Given the description of an element on the screen output the (x, y) to click on. 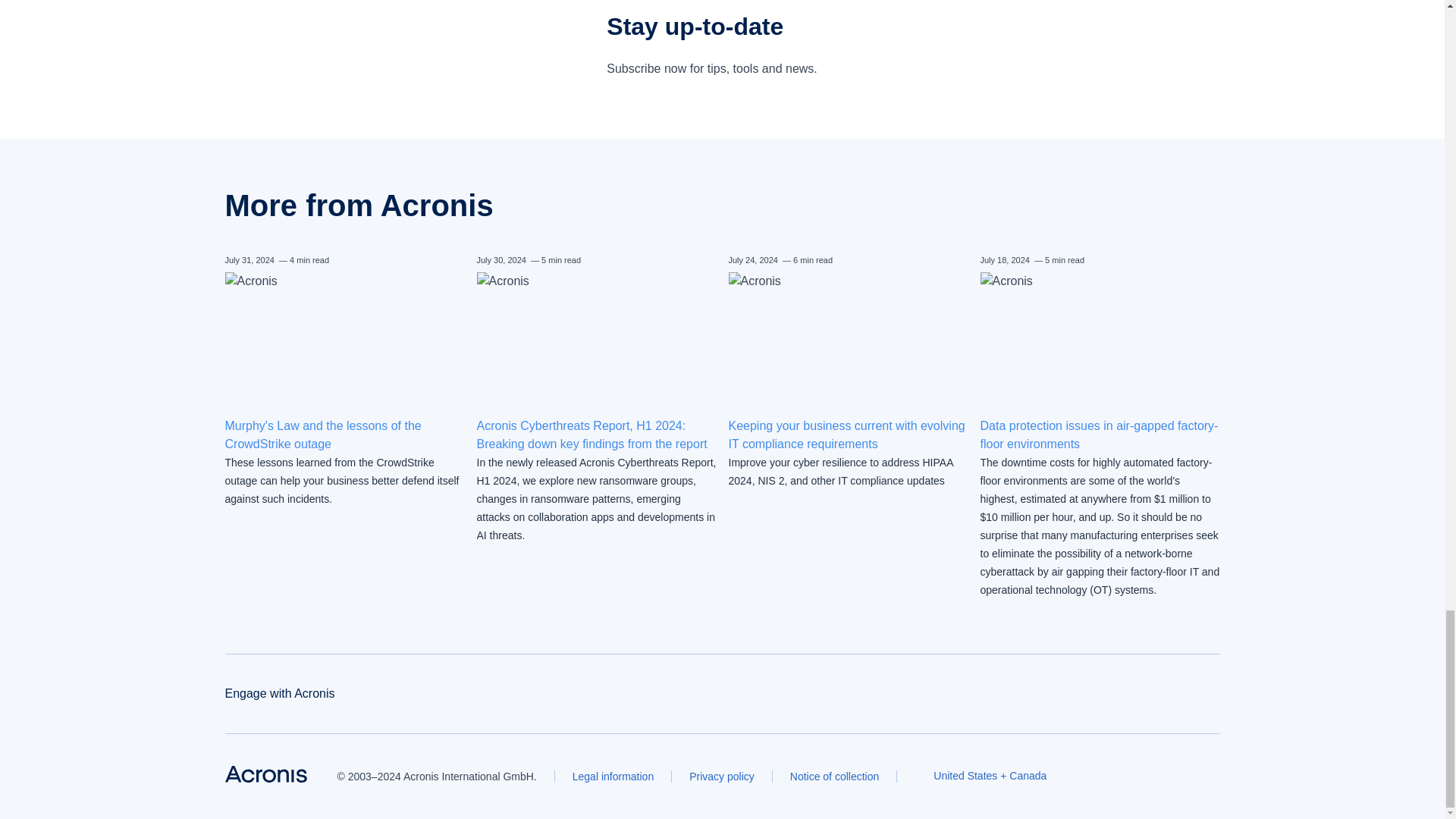
Acronis (264, 773)
